Given the description of an element on the screen output the (x, y) to click on. 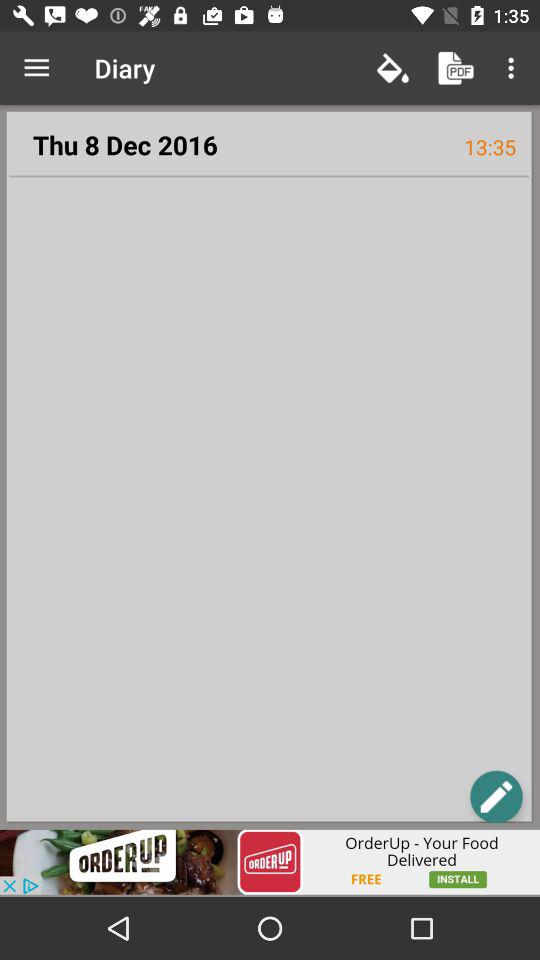
click advertisement (270, 861)
